Given the description of an element on the screen output the (x, y) to click on. 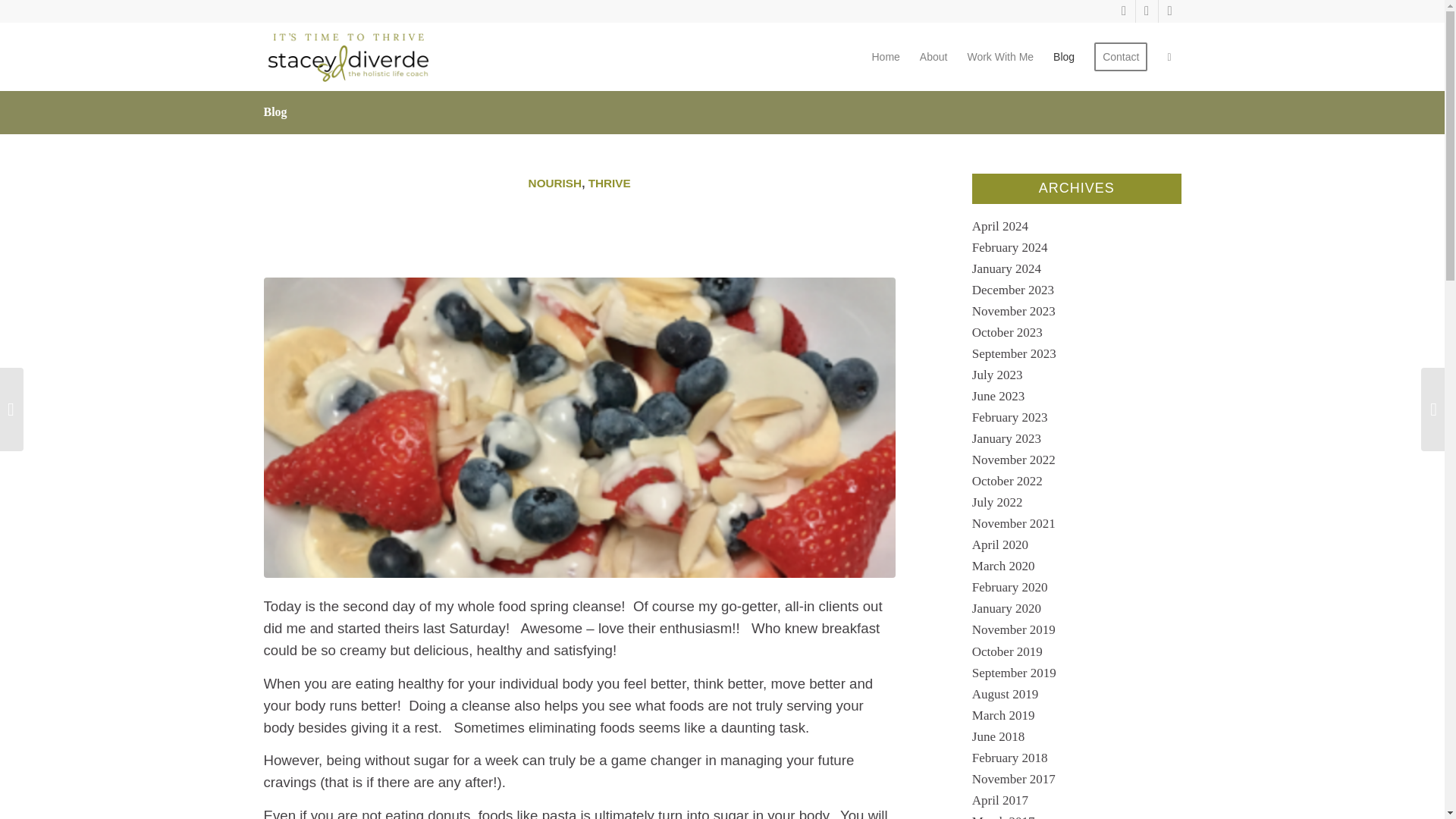
February 2023 (1010, 417)
LinkedIn (1169, 11)
January 2024 (1006, 268)
October 2022 (1007, 481)
THRIVE (609, 182)
Facebook (1146, 11)
February 2020 (1010, 586)
Permanent Link: Blog (274, 111)
September 2023 (1014, 353)
